Given the description of an element on the screen output the (x, y) to click on. 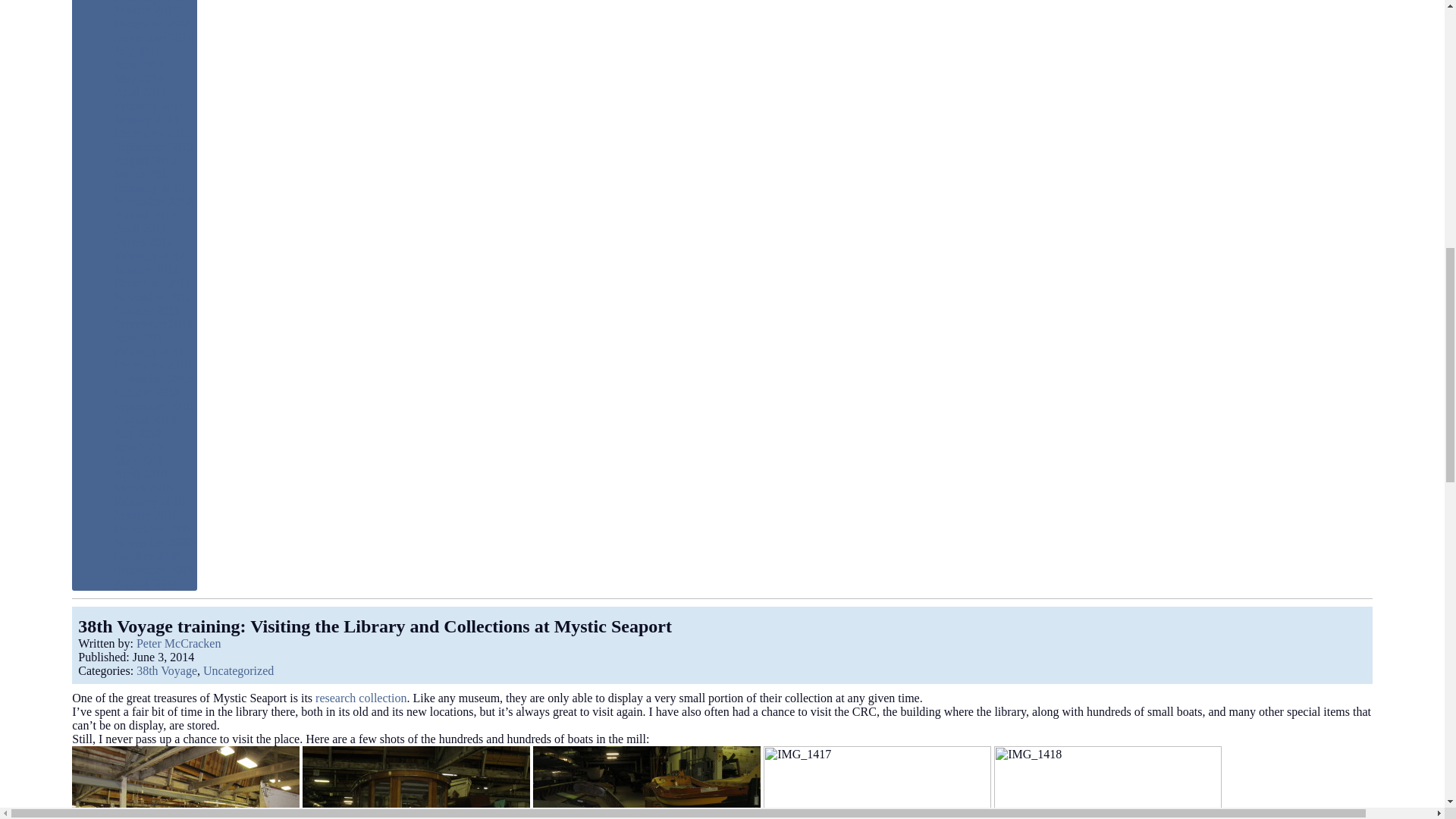
View all posts by Peter McCracken (178, 643)
